Given the description of an element on the screen output the (x, y) to click on. 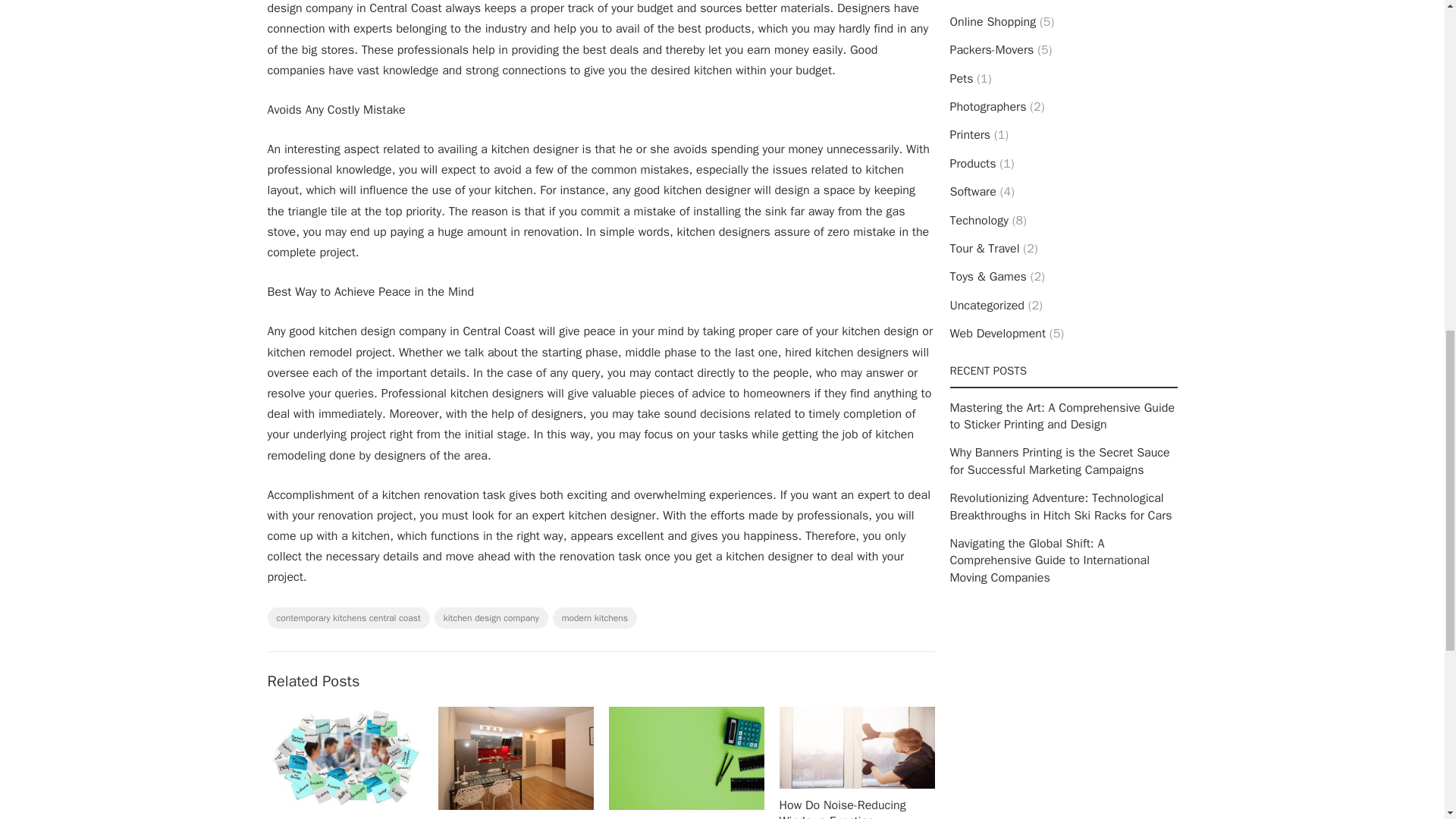
How Do Noise-Reducing Windows Function (841, 808)
kitchen design company (490, 617)
modern kitchens (595, 617)
contemporary kitchens central coast (347, 617)
